Given the description of an element on the screen output the (x, y) to click on. 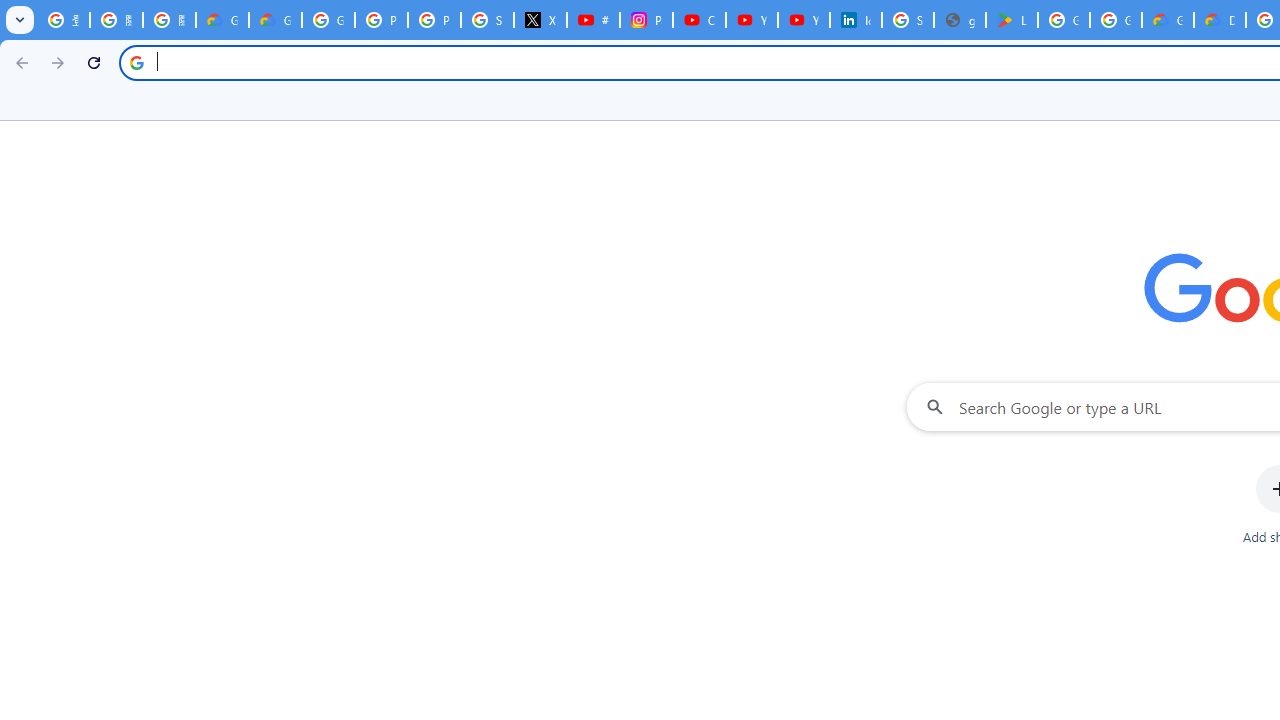
Last Shelter: Survival - Apps on Google Play (1011, 20)
Privacy Help Center - Policies Help (434, 20)
#nbabasketballhighlights - YouTube (593, 20)
Google Cloud Privacy Notice (275, 20)
X (540, 20)
